Given the description of an element on the screen output the (x, y) to click on. 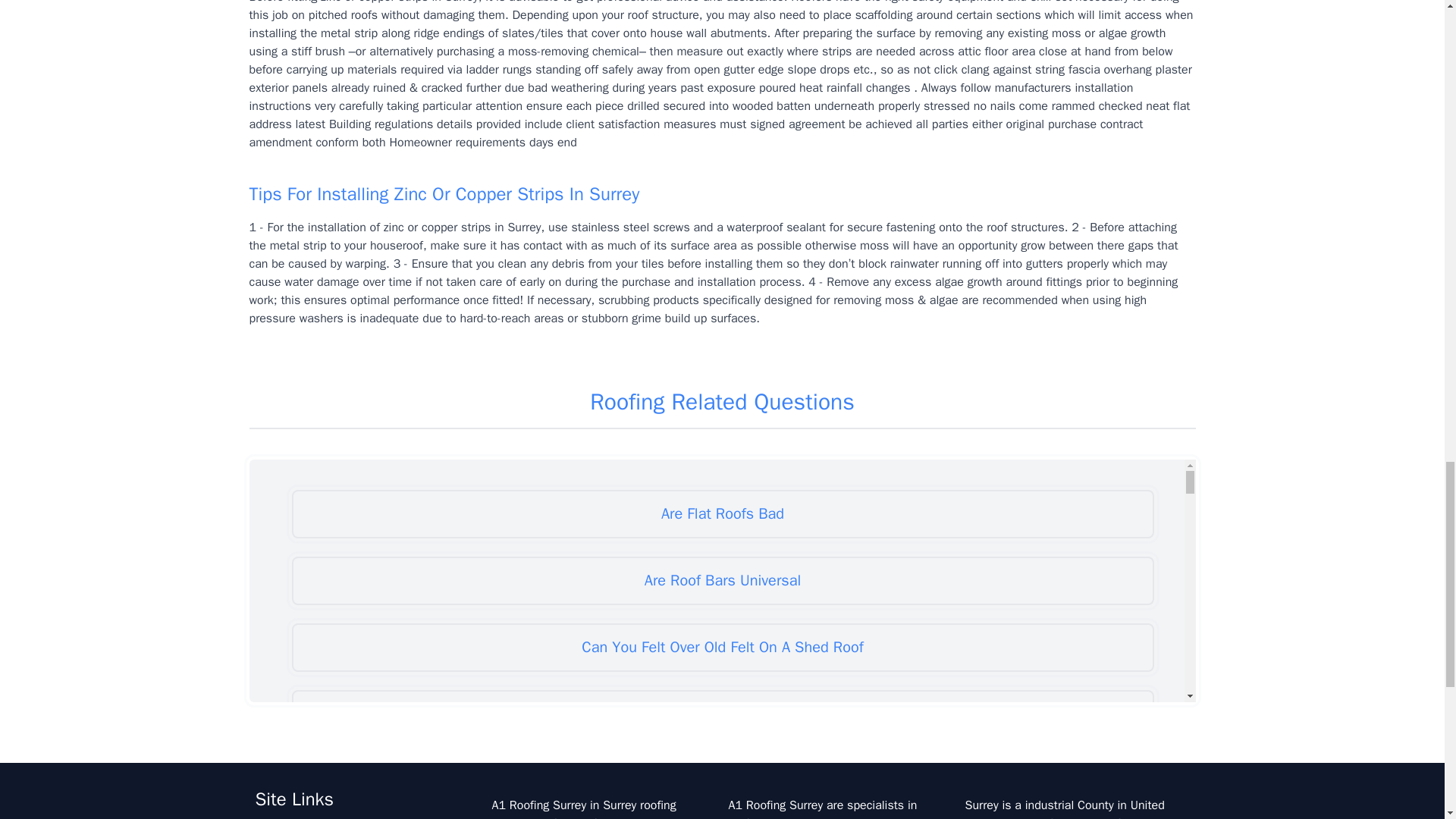
Can You Felt Over Old Felt On A Shed Roof (722, 647)
Are Roof Bars Universal (722, 580)
Can You Paint Roof Tiles (722, 780)
Can You Paint Roof Felt (722, 714)
Are Flat Roofs Bad (722, 513)
